Given the description of an element on the screen output the (x, y) to click on. 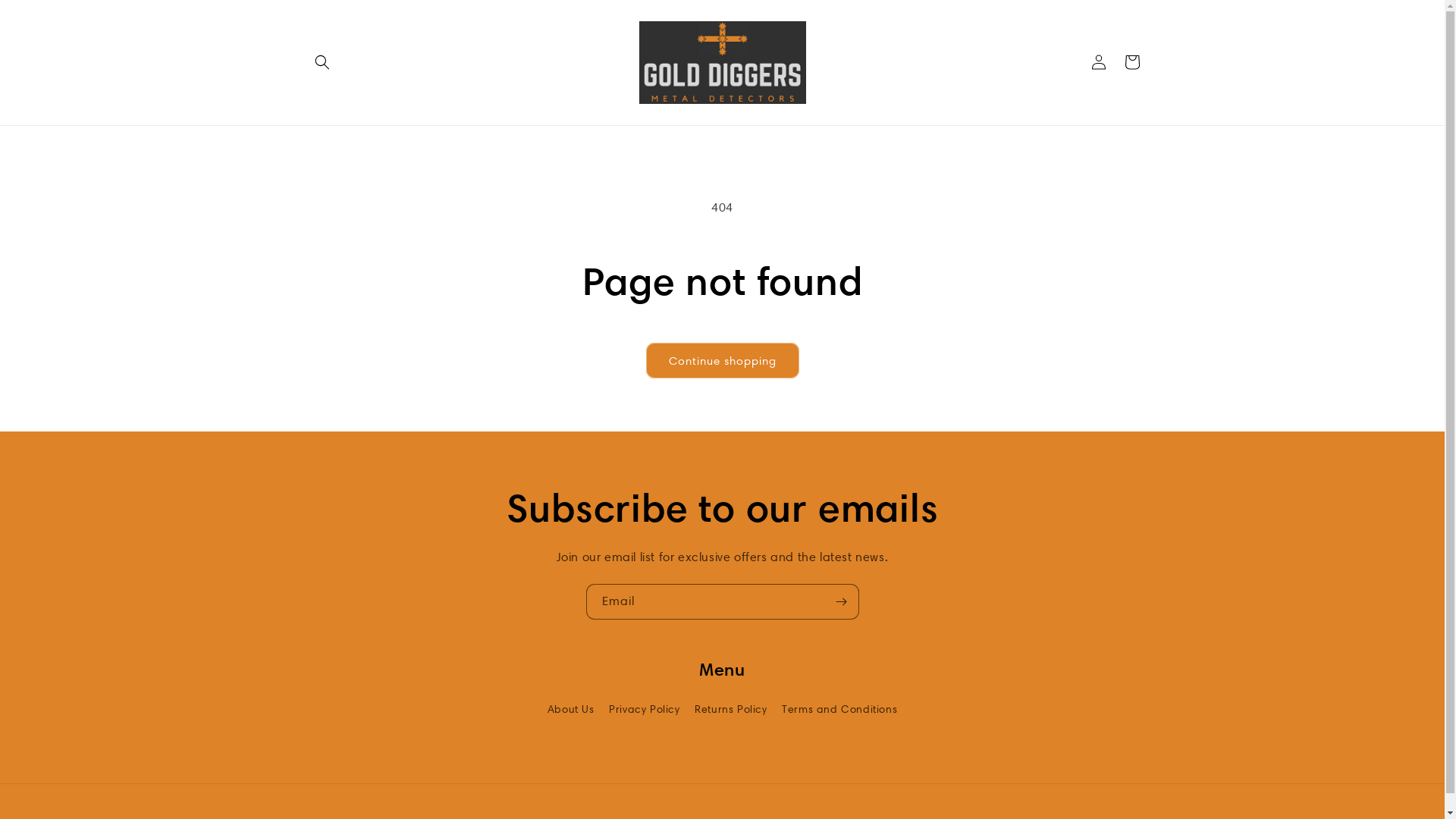
Cart Element type: text (1131, 61)
Continue shopping Element type: text (722, 360)
Log in Element type: text (1097, 61)
Returns Policy Element type: text (730, 709)
About Us Element type: text (570, 710)
Privacy Policy Element type: text (643, 709)
Terms and Conditions Element type: text (839, 709)
